Given the description of an element on the screen output the (x, y) to click on. 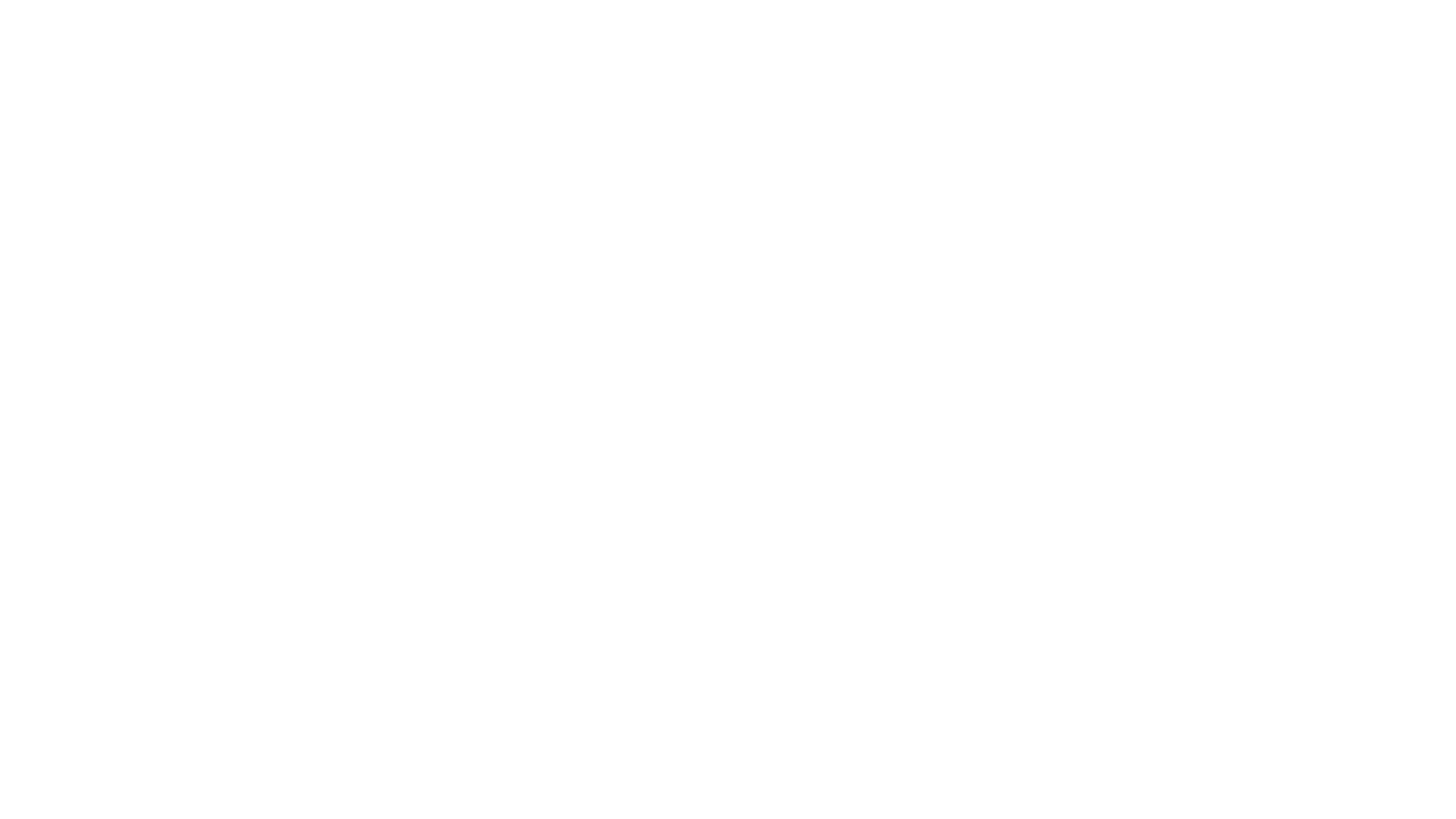
Search Element type: text (700, 17)
